Given the description of an element on the screen output the (x, y) to click on. 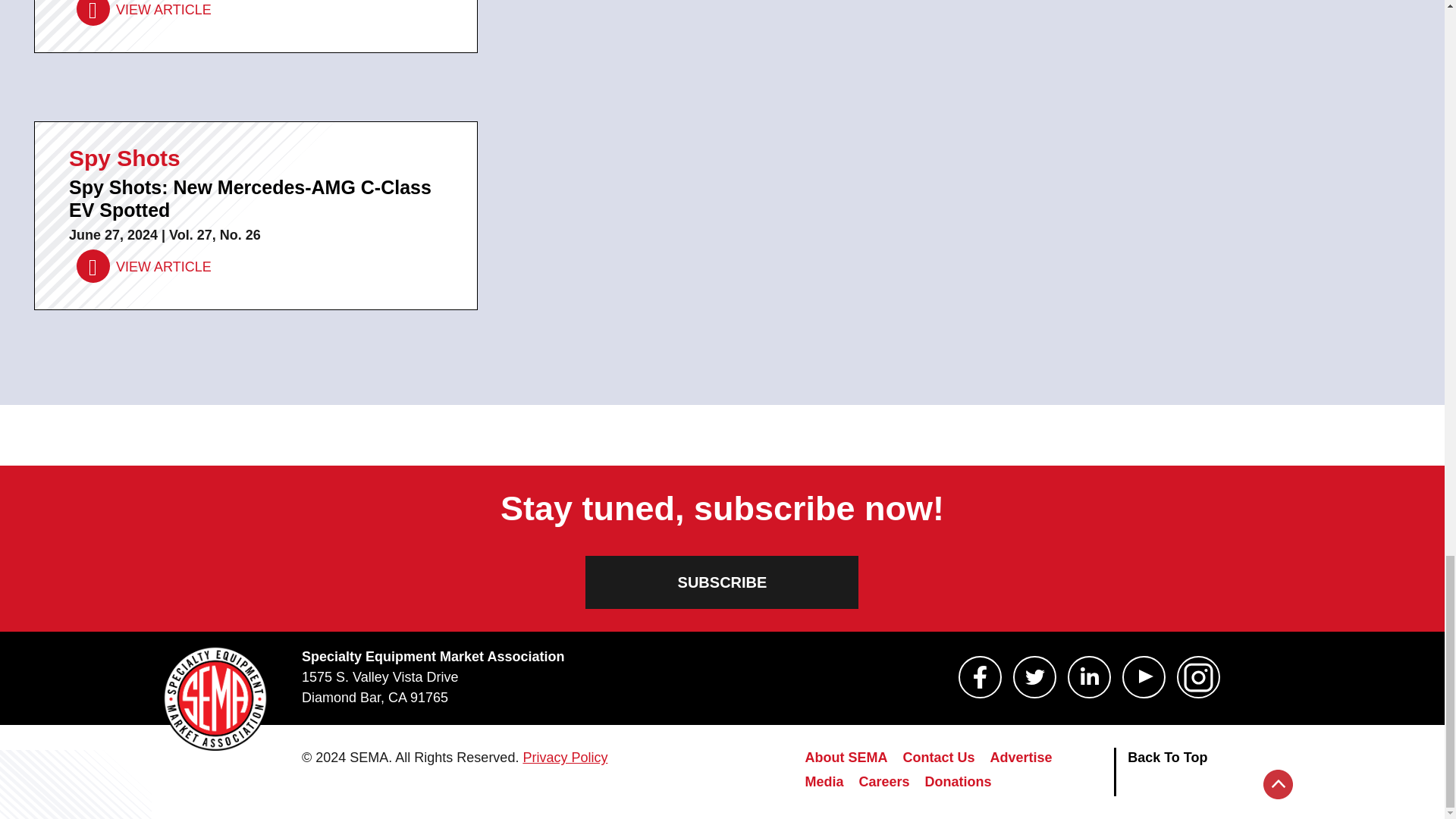
SEMA Instagram Link (1198, 677)
Privacy Policy (564, 757)
SEMA LinkedIn Link (1088, 677)
SUBSCRIBE (722, 582)
VIEW ARTICLE (143, 12)
SEMA Twitter Link (1035, 677)
SEMA Facebook Link (979, 677)
Spy Shots: New Mercedes-AMG C-Class EV Spotted (143, 266)
VIEW ARTICLE (143, 266)
SEMA YouTube Link (1144, 677)
Spy Shots: BMW M3 CS Touring Spotted Testing in Germany (143, 12)
